Given the description of an element on the screen output the (x, y) to click on. 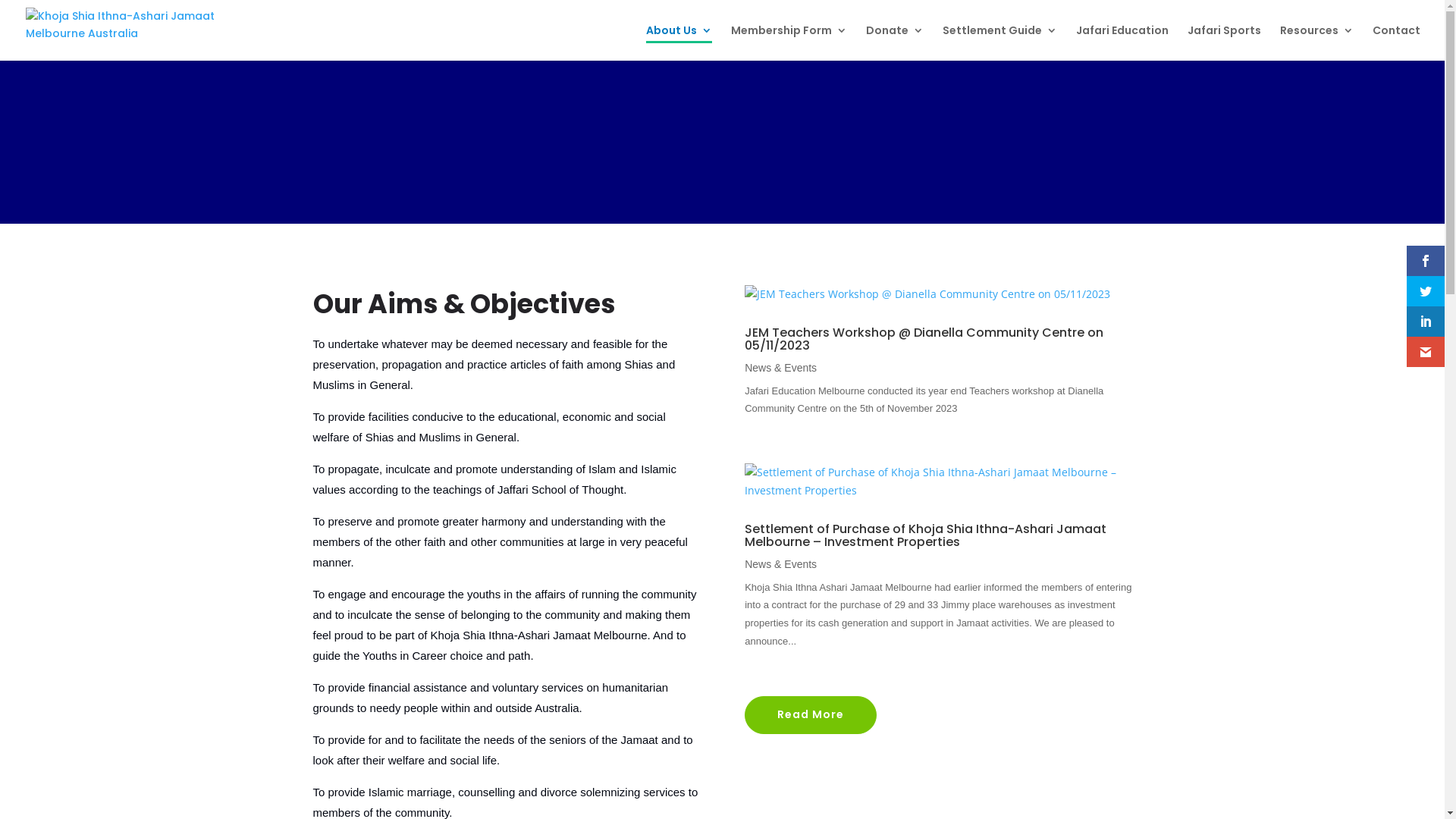
Contact Element type: text (1396, 42)
Membership Form Element type: text (789, 42)
Resources Element type: text (1316, 42)
News & Events Element type: text (780, 367)
News & Events Element type: text (780, 564)
Settlement Guide Element type: text (999, 42)
Jafari Education Element type: text (1122, 42)
Jafari Sports Element type: text (1224, 42)
Read More Element type: text (810, 715)
Donate Element type: text (894, 42)
About Us Element type: text (679, 42)
